Given the description of an element on the screen output the (x, y) to click on. 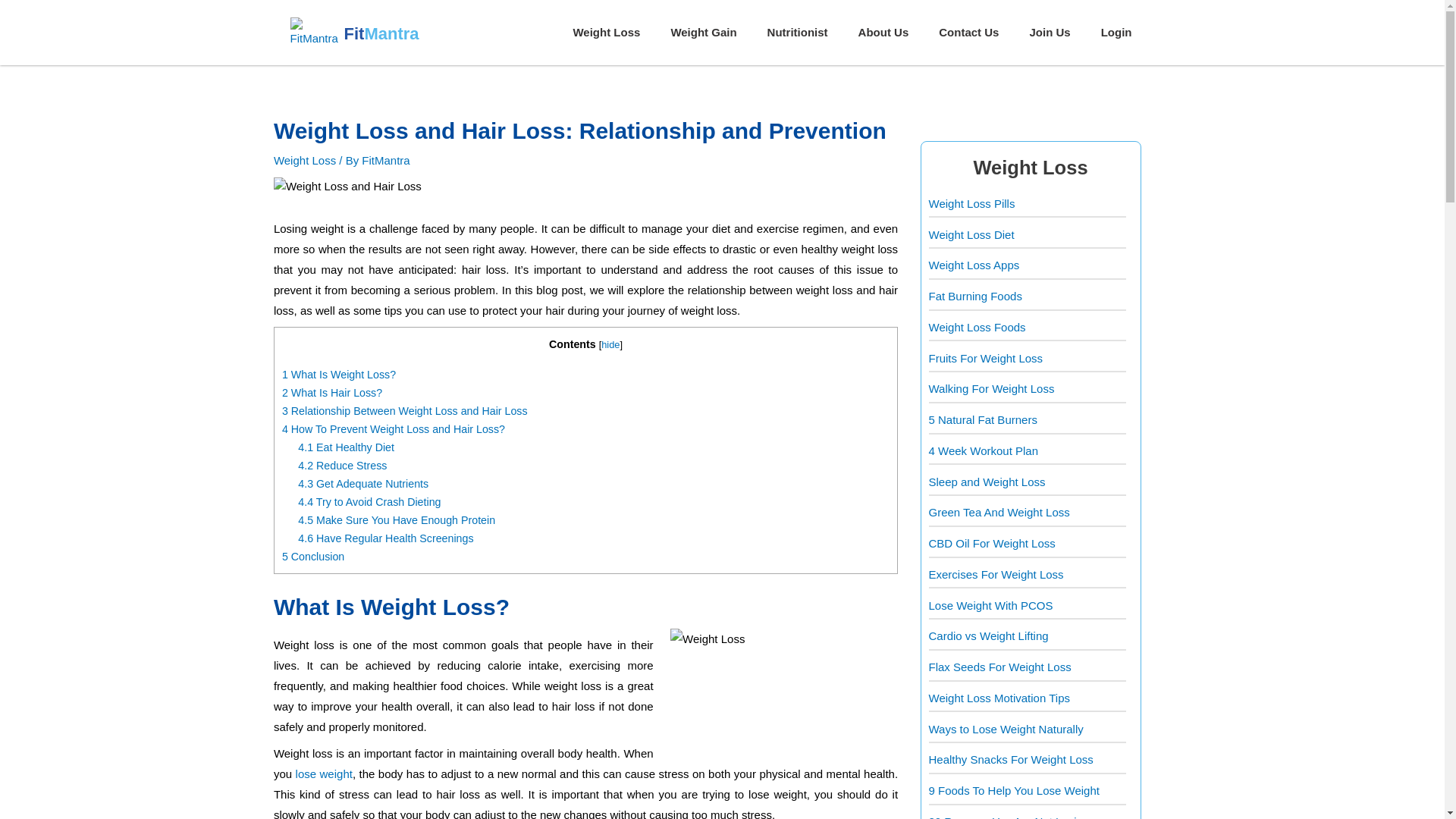
Contact Us (968, 32)
FitMantra (379, 34)
3 Relationship Between Weight Loss and Hair Loss (404, 410)
lose weight (323, 773)
4.5 Make Sure You Have Enough Protein (396, 520)
lose weight (323, 773)
FitMantra (385, 160)
4.4 Try to Avoid Crash Dieting (369, 501)
5 Conclusion (312, 556)
Weight Loss (606, 32)
